Given the description of an element on the screen output the (x, y) to click on. 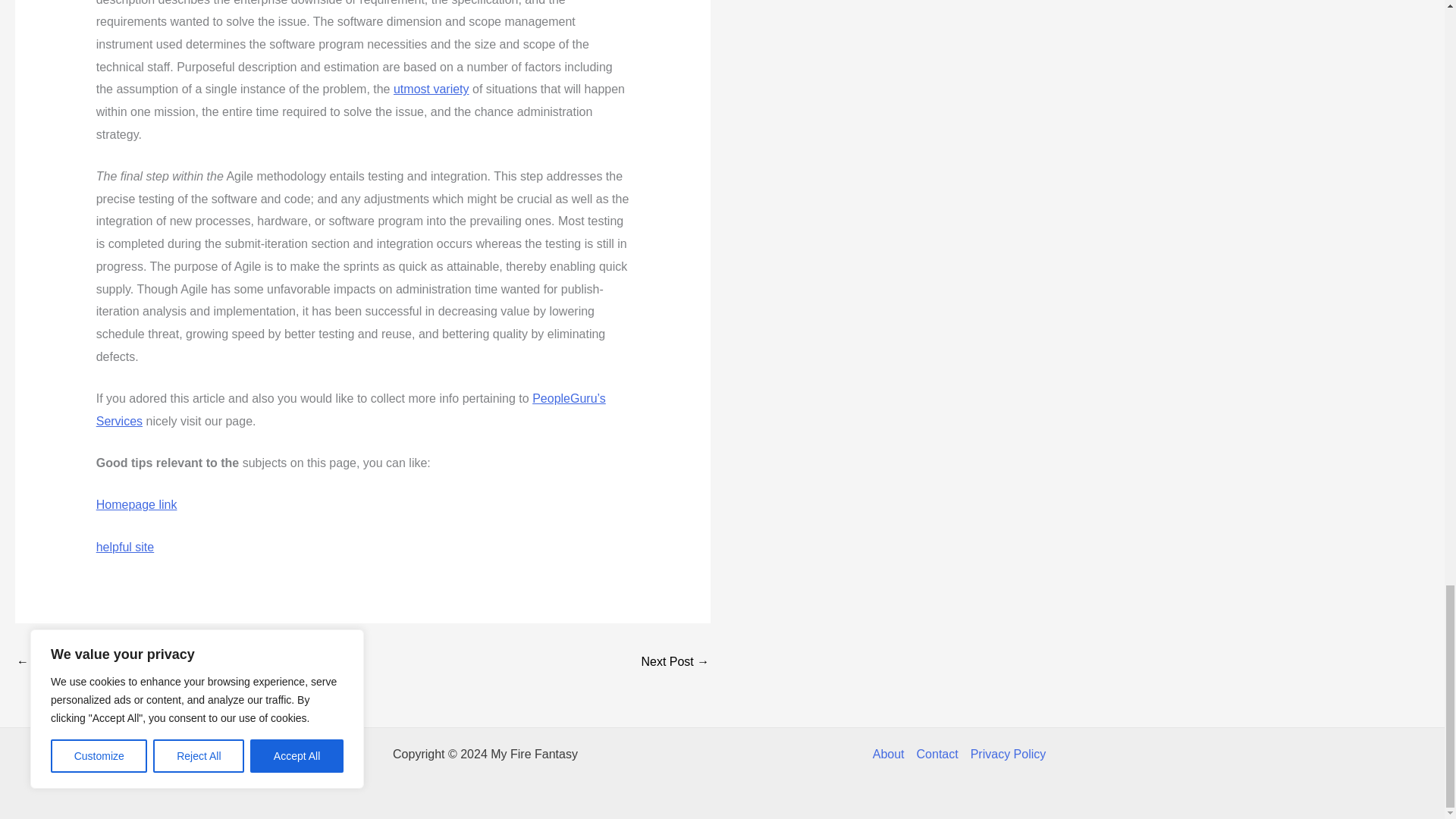
Online Gambling Gains (674, 663)
Legal On-line Sports Activities Betting A Hundred And One (61, 663)
Homepage link (136, 504)
helpful site (125, 546)
utmost variety (430, 88)
